Given the description of an element on the screen output the (x, y) to click on. 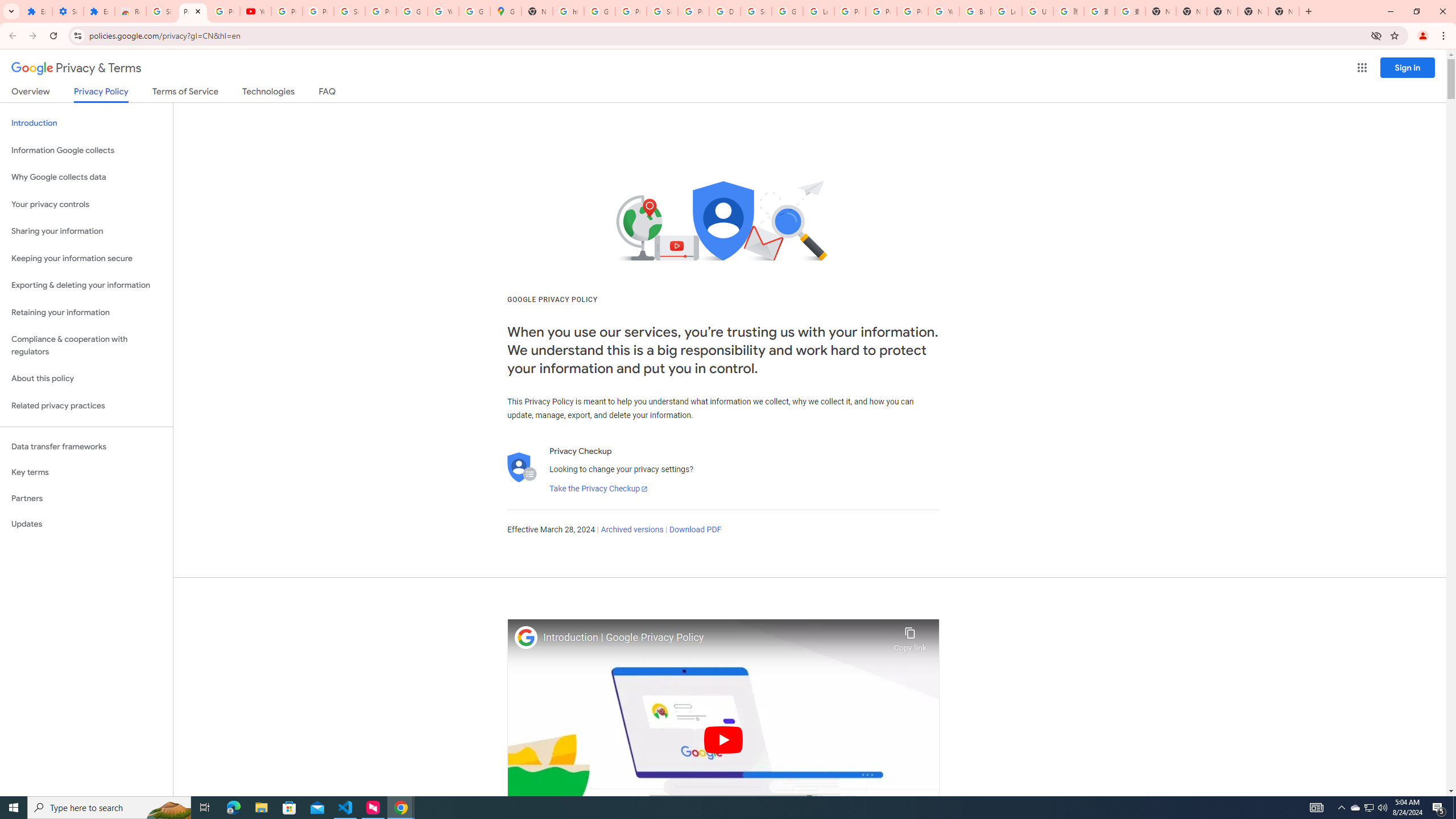
Sign in - Google Accounts (662, 11)
Sharing your information (86, 230)
Settings (67, 11)
Information Google collects (86, 150)
Copy link (909, 636)
Google Maps (505, 11)
Download PDF (695, 529)
YouTube (255, 11)
